Given the description of an element on the screen output the (x, y) to click on. 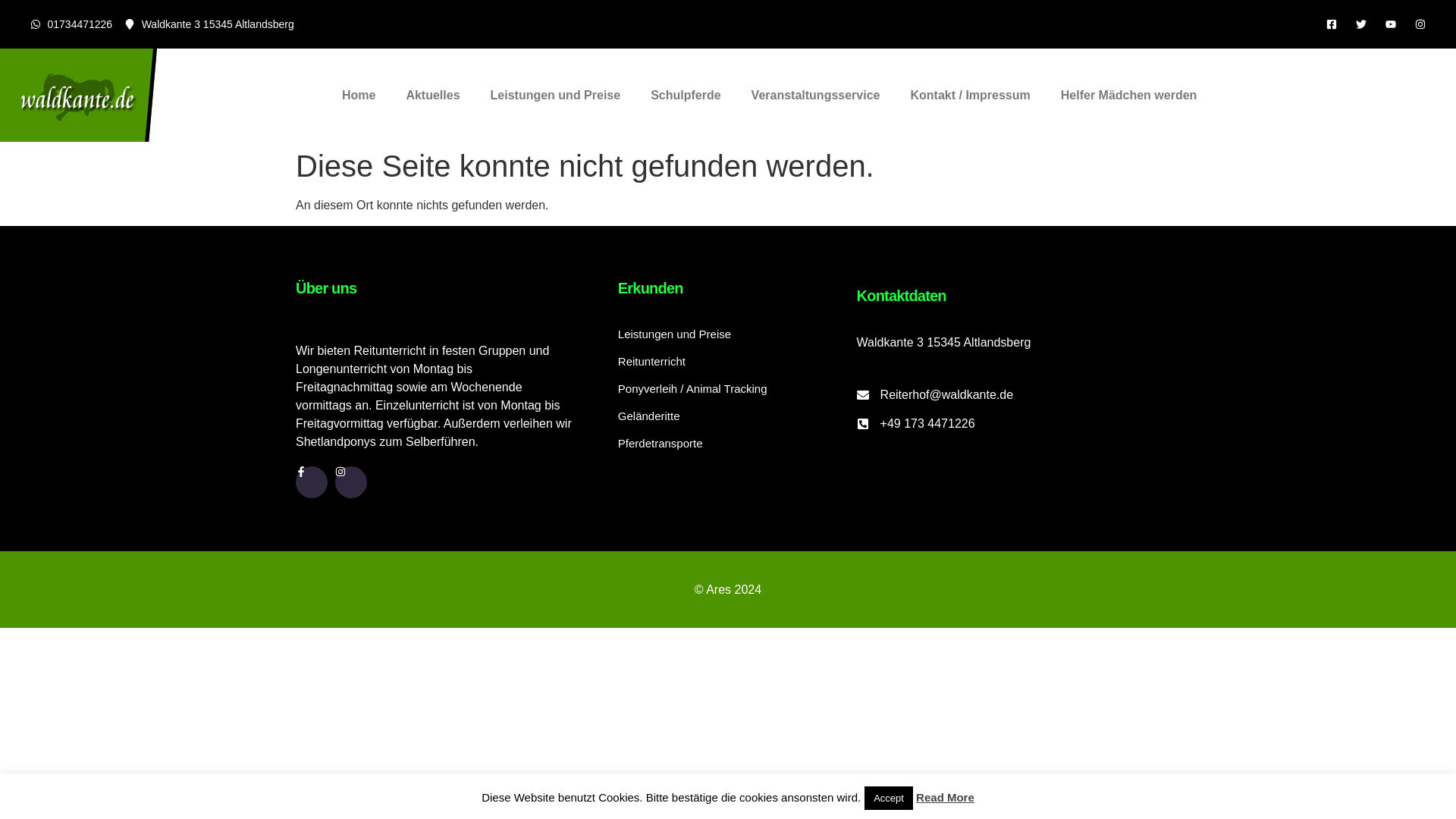
Schulpferde (684, 95)
Aktuelles (432, 95)
Home (358, 95)
Veranstaltungsservice (815, 95)
Leistungen und Preise (556, 95)
